Given the description of an element on the screen output the (x, y) to click on. 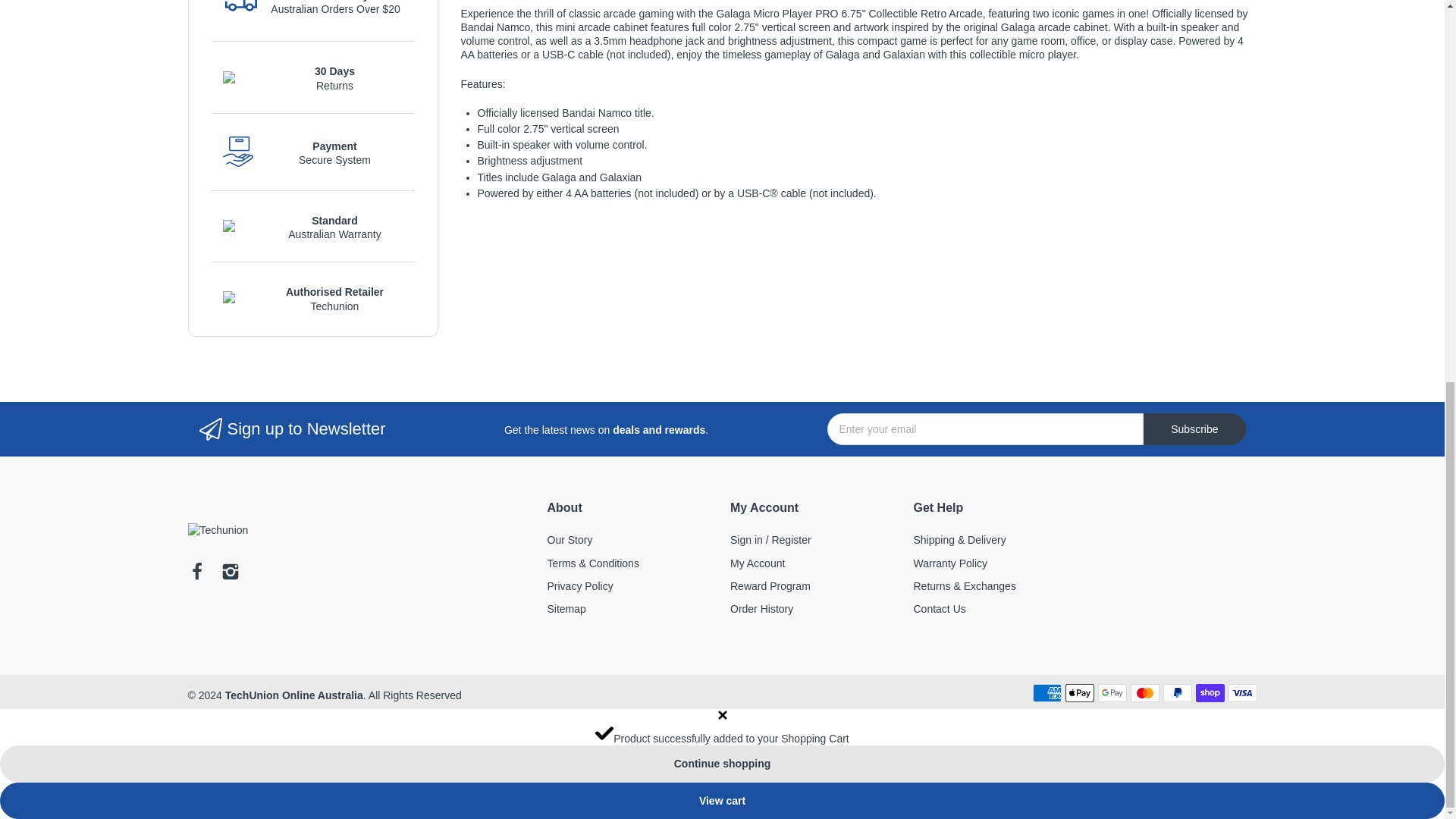
electro-track-order-icon (239, 8)
Techunion (217, 530)
electro-payment (237, 151)
